Given the description of an element on the screen output the (x, y) to click on. 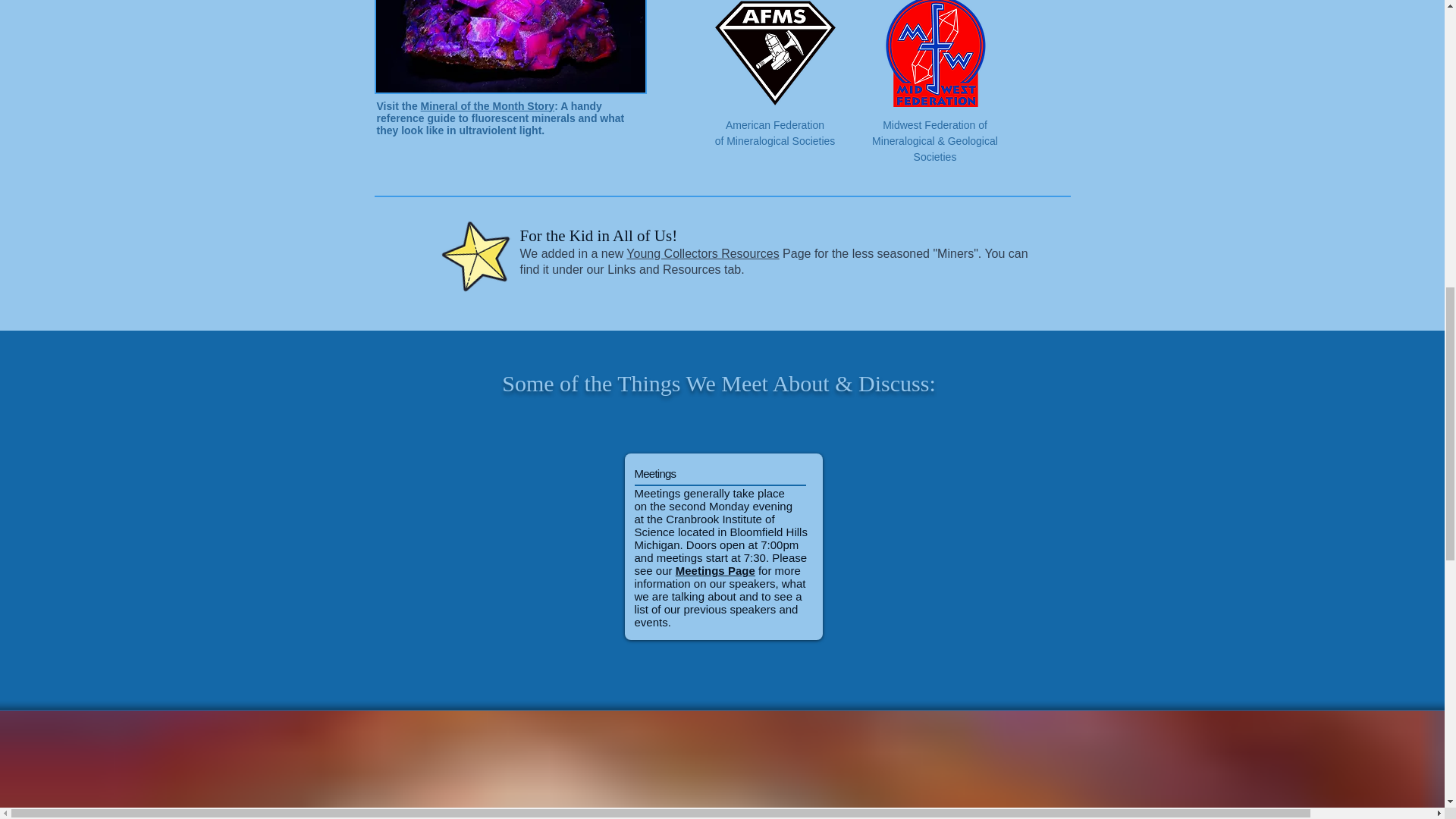
Featured Mineral (510, 46)
Mineral of the Month Story (487, 105)
AFMS-logo-1K.png (775, 53)
